Given the description of an element on the screen output the (x, y) to click on. 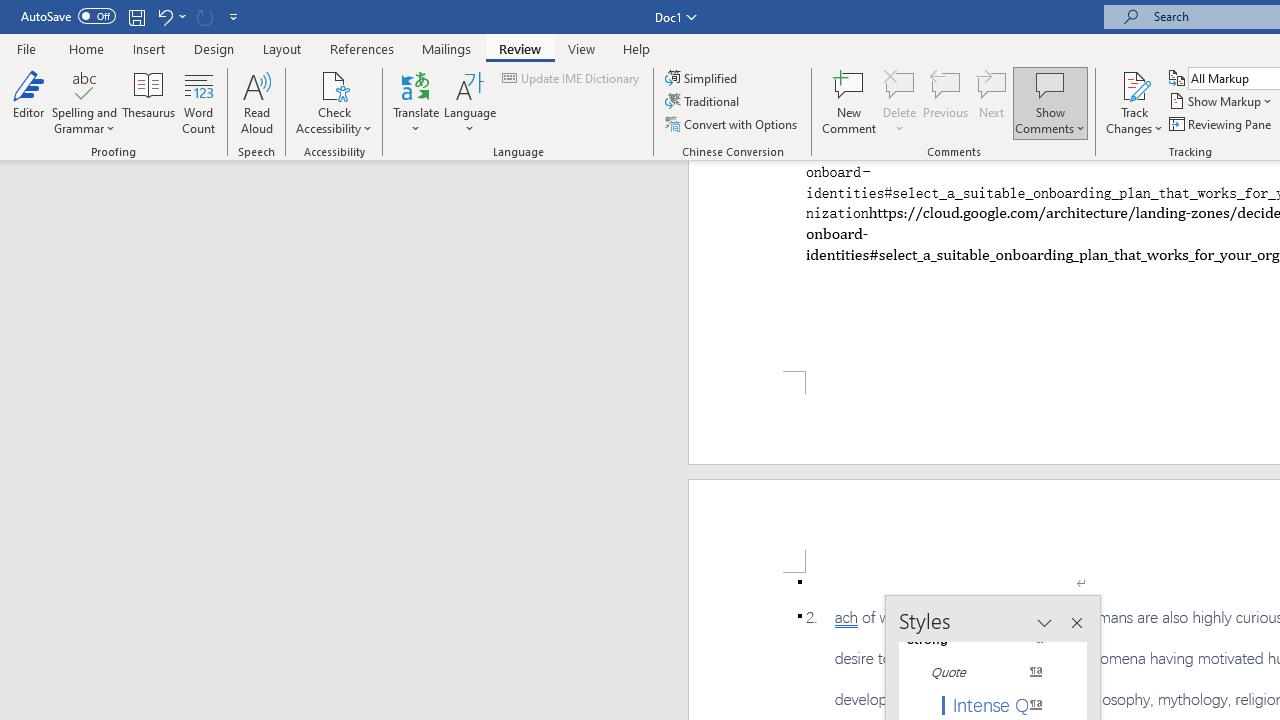
Can't Repeat (204, 15)
Traditional (703, 101)
New Comment (849, 102)
Show Comments (1050, 84)
Check Accessibility (334, 84)
Delete (900, 84)
Quote (984, 672)
Check Accessibility (334, 102)
Thesaurus... (148, 102)
